Given the description of an element on the screen output the (x, y) to click on. 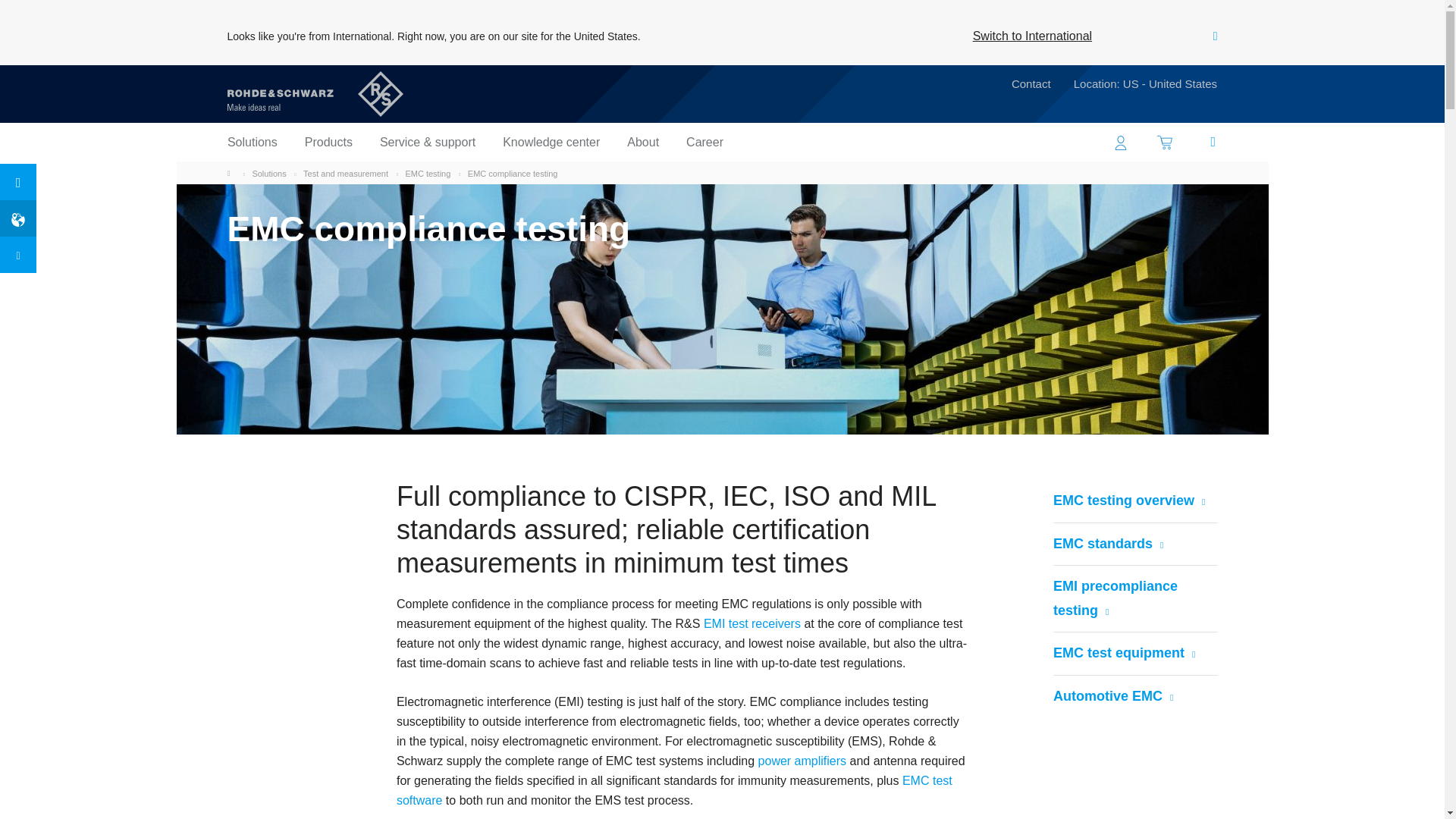
EMC test equipment (1120, 653)
Test and measurement (345, 173)
EMC test software (674, 792)
EMC standards (1104, 544)
EMI test receivers (751, 625)
Solutions (268, 173)
Switch to International (1032, 36)
Automotive EMC (1109, 695)
EMC testing (426, 173)
EMC compliance testing (512, 173)
Home (232, 172)
Contact (1031, 85)
Customer portal (1121, 141)
EMI precompliance testing (1134, 598)
